Given the description of an element on the screen output the (x, y) to click on. 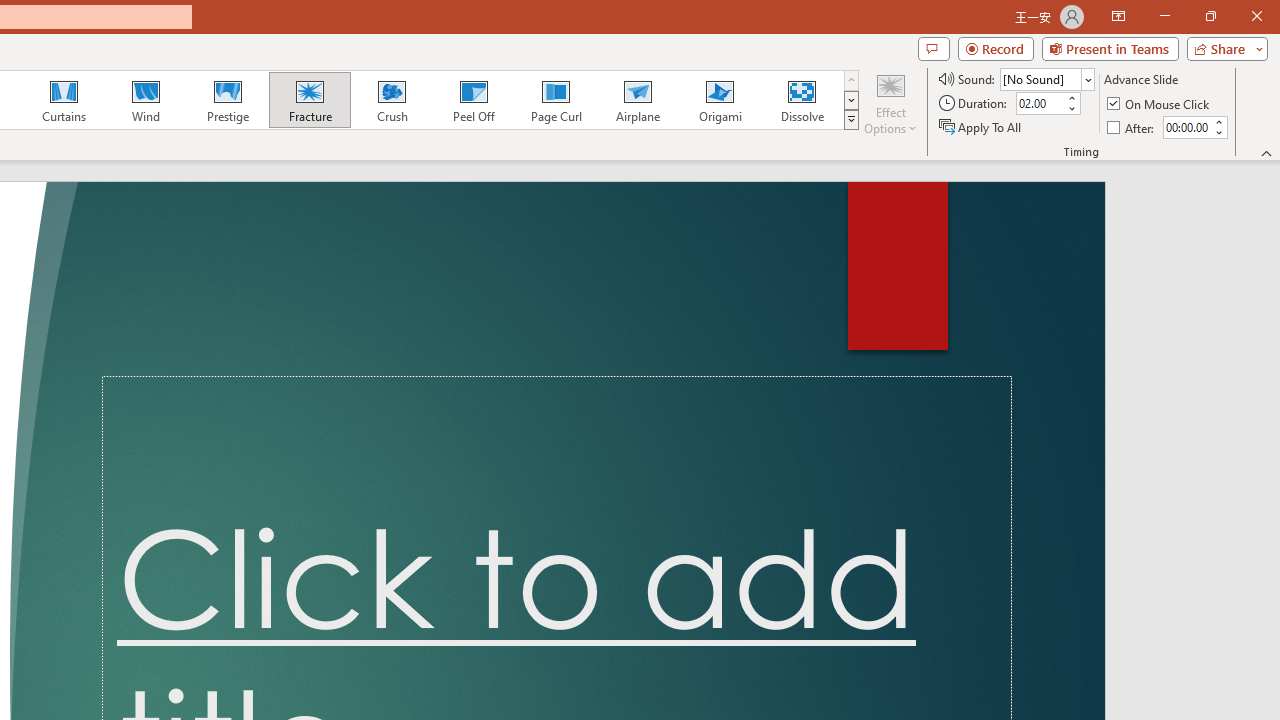
Dissolve (802, 100)
Peel Off (473, 100)
Origami (719, 100)
Apply To All (981, 126)
Transition Effects (850, 120)
Crush (391, 100)
Prestige (227, 100)
After (1186, 127)
